Given the description of an element on the screen output the (x, y) to click on. 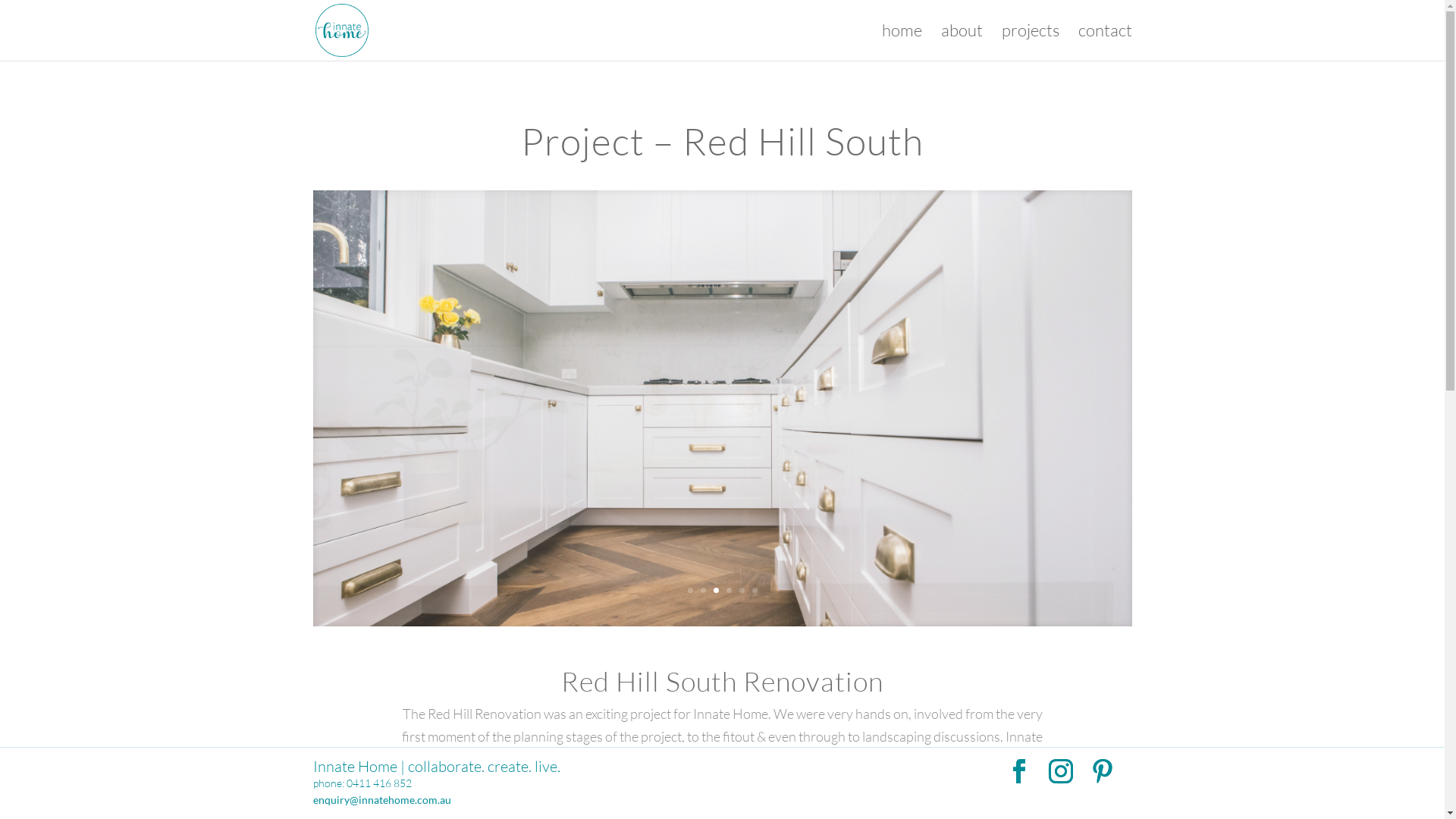
5 Element type: text (740, 590)
2 Element type: text (703, 590)
projects Element type: text (1029, 42)
about Element type: text (961, 42)
contact Element type: text (1105, 42)
home Element type: text (901, 42)
6 Element type: text (754, 590)
3 Element type: text (715, 590)
1 Element type: text (689, 590)
4 Element type: text (728, 590)
enquiry@innatehome.com.au Element type: text (381, 799)
